Given the description of an element on the screen output the (x, y) to click on. 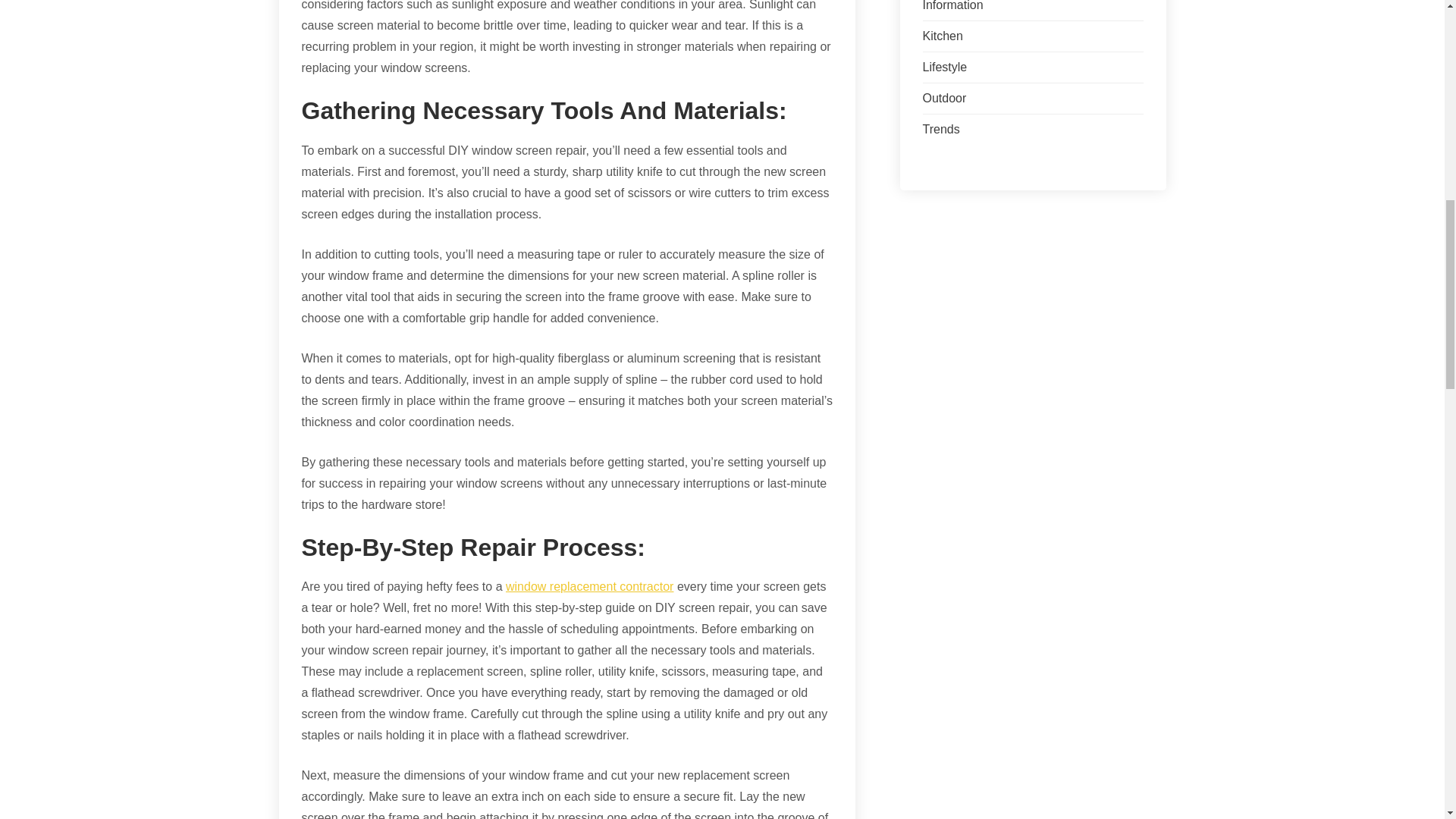
Kitchen (941, 35)
Outdoor (943, 97)
Information (951, 5)
Lifestyle (943, 66)
Trends (940, 128)
window replacement contractor (588, 585)
